Given the description of an element on the screen output the (x, y) to click on. 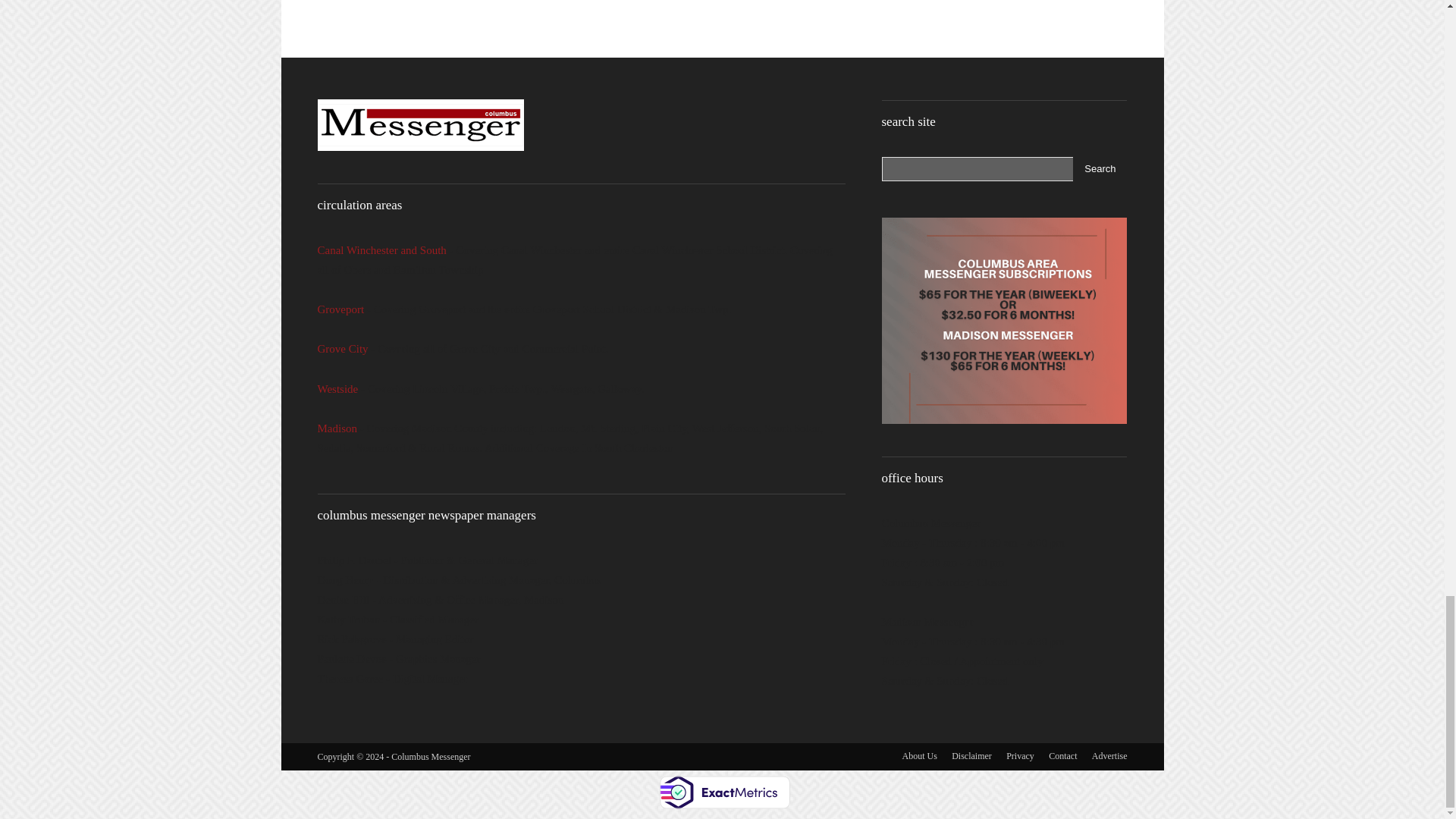
Search (1099, 168)
